Given the description of an element on the screen output the (x, y) to click on. 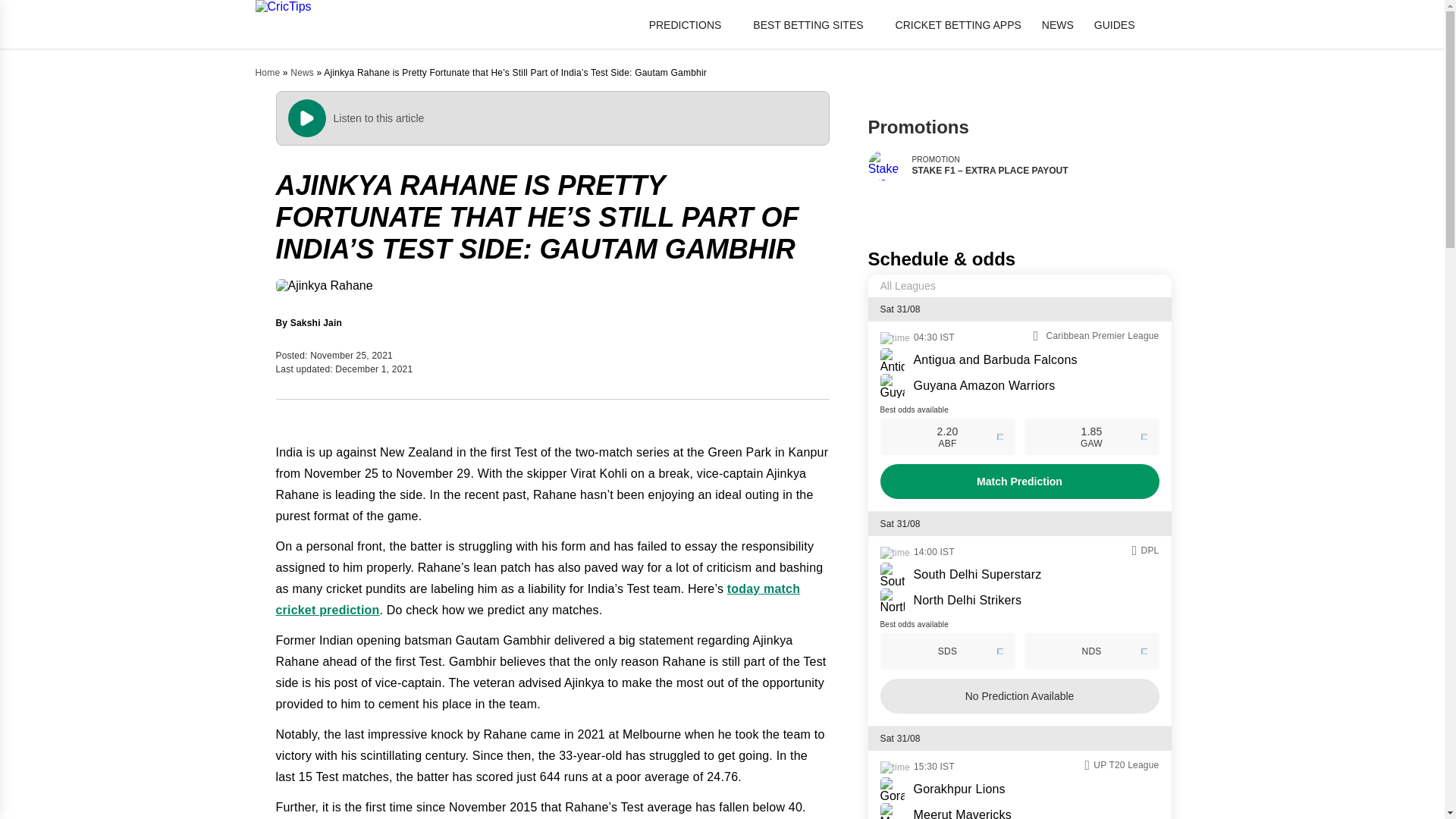
Sakshi Jain (315, 322)
Play (19, 7)
NEWS (1058, 24)
Home (266, 72)
PREDICTIONS (691, 24)
BEST BETTING SITES (813, 24)
today match cricket prediction (538, 599)
CRICKET BETTING APPS (958, 24)
News (301, 72)
Play (307, 118)
